Given the description of an element on the screen output the (x, y) to click on. 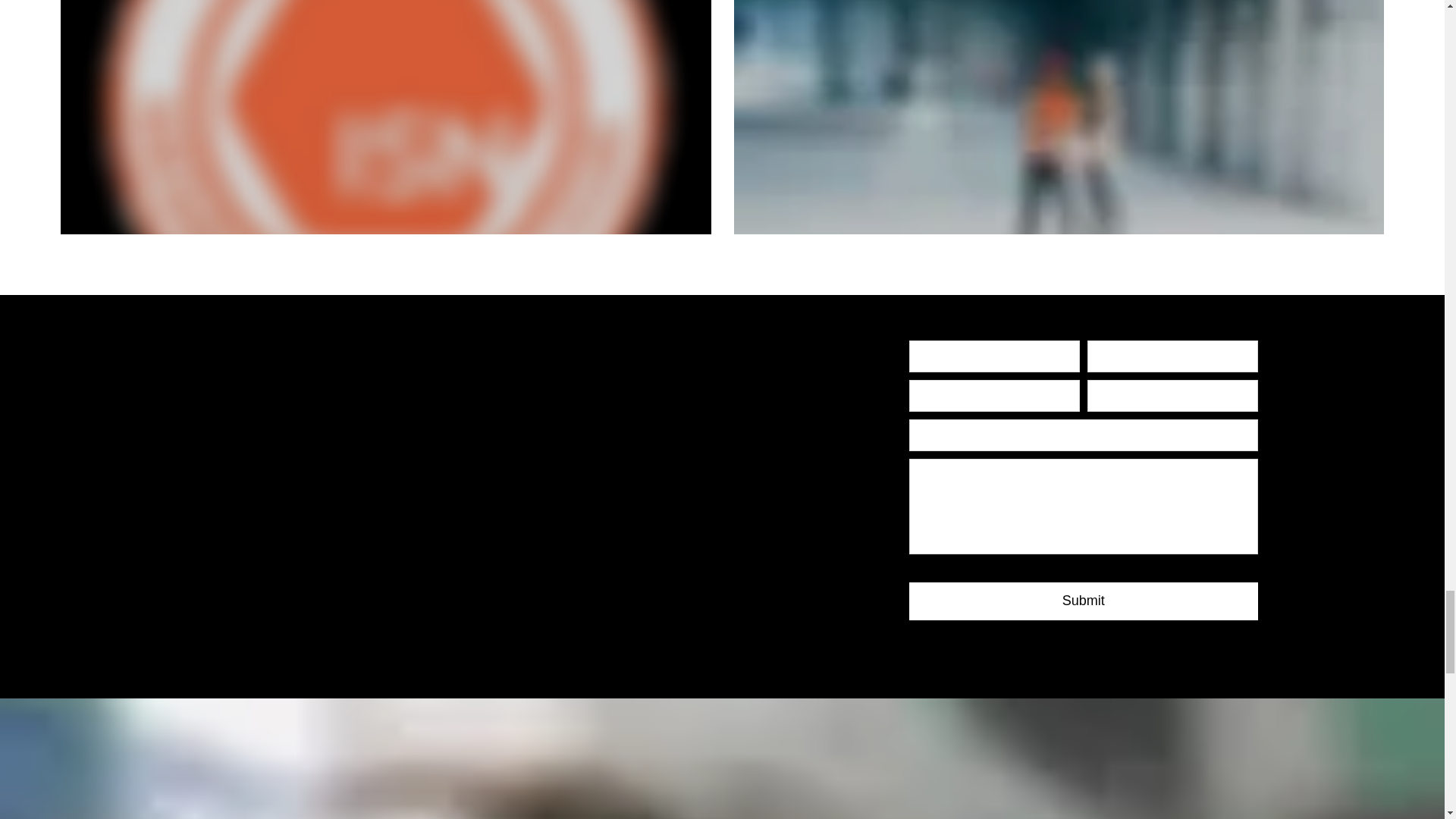
Submit (1082, 600)
